Given the description of an element on the screen output the (x, y) to click on. 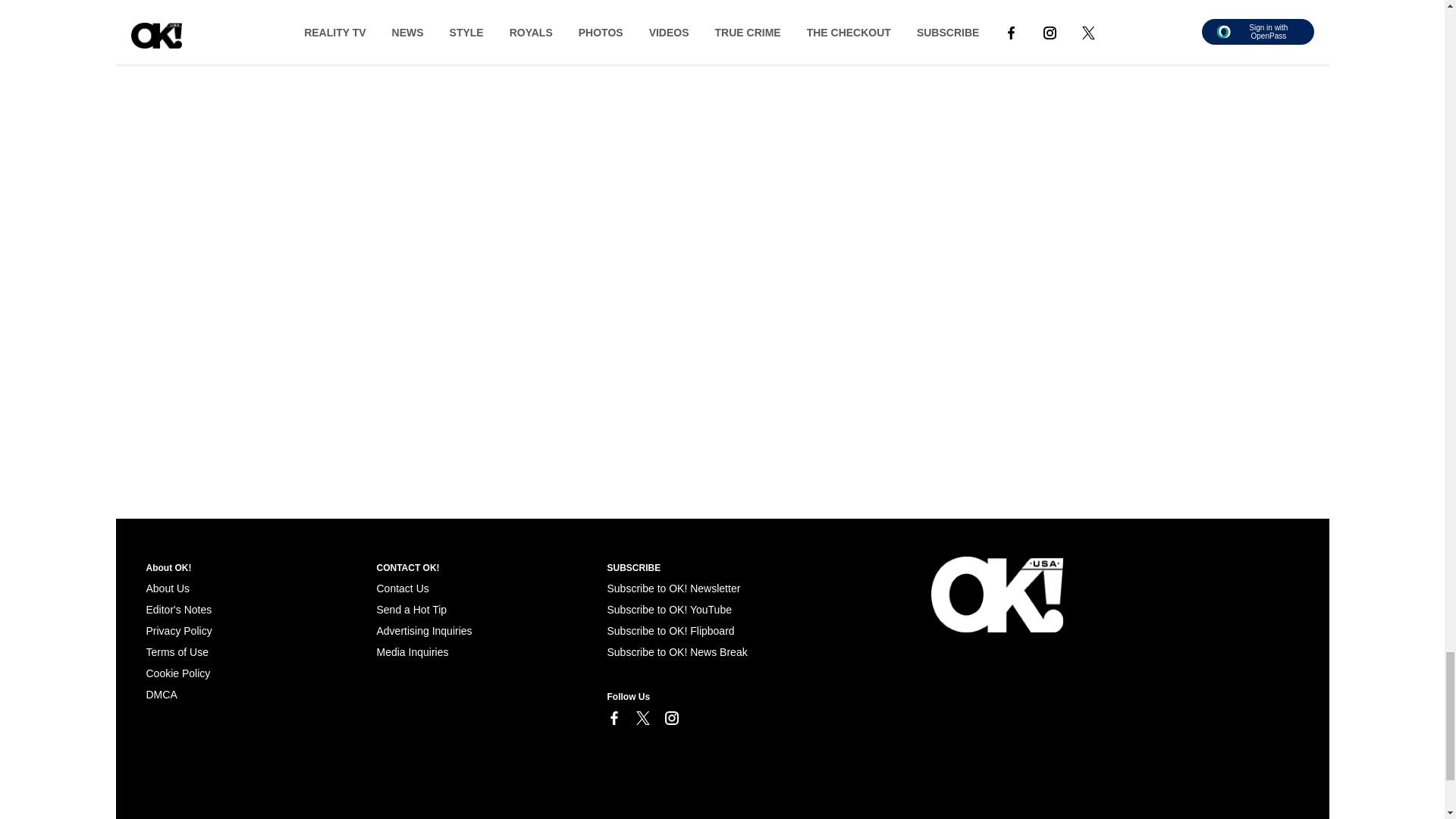
Cookie Policy (160, 694)
About Us (167, 588)
Terms of Use (176, 652)
Editor's Notes (178, 609)
Link to X (641, 717)
Privacy Policy (178, 630)
Cookie Policy (177, 673)
Link to Instagram (670, 717)
Link to Facebook (613, 717)
